Given the description of an element on the screen output the (x, y) to click on. 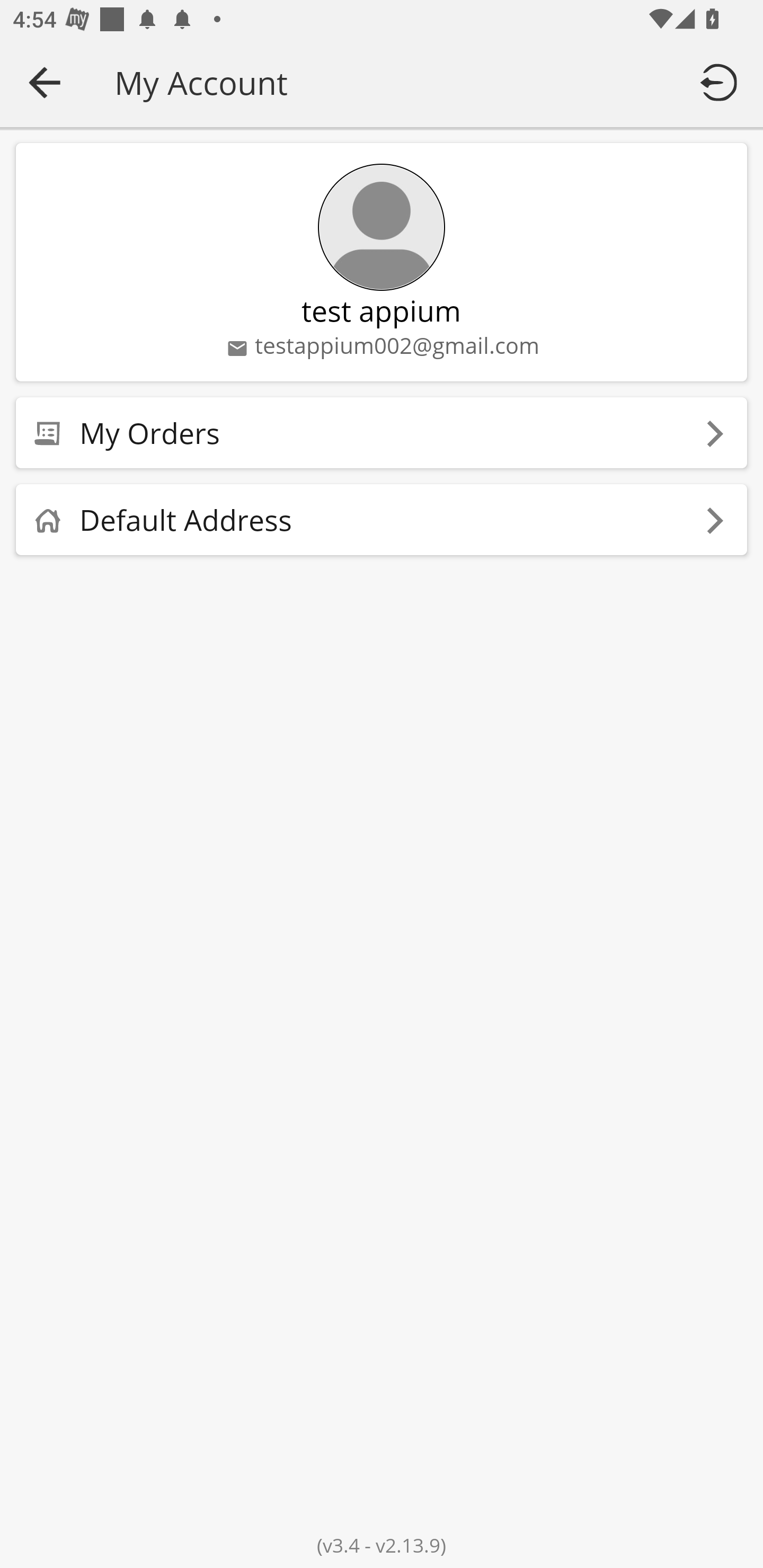
Navigate up (44, 82)
LOGOUT (721, 81)
